Given the description of an element on the screen output the (x, y) to click on. 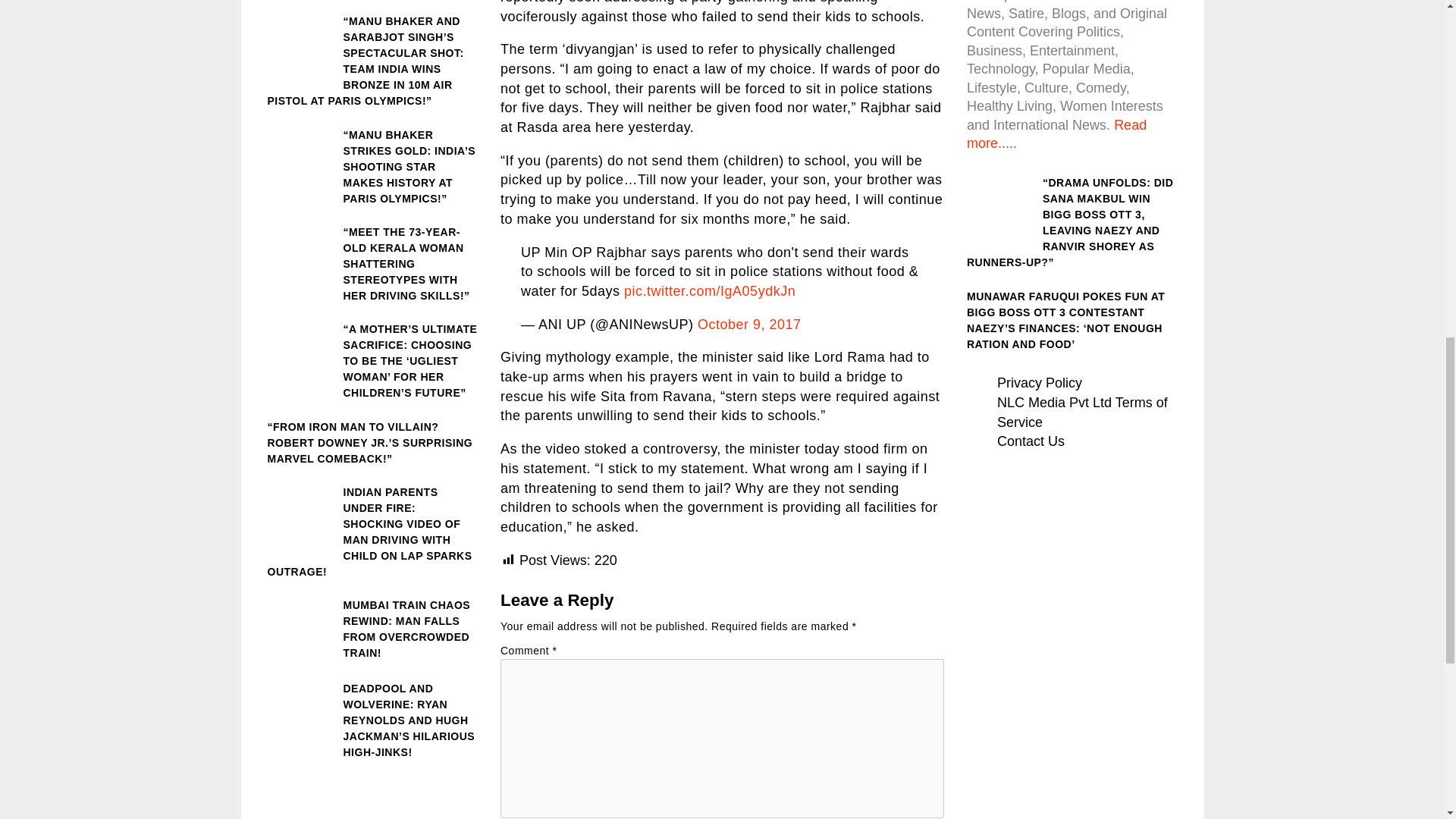
Read more..... (1056, 133)
Contact Us (1030, 441)
October 9, 2017 (749, 324)
NLC Media Pvt Ltd Terms of Service (1082, 411)
MUMBAI TRAIN CHAOS REWIND: MAN FALLS FROM OVERCROWDED TRAIN! (371, 628)
Privacy Policy (1039, 382)
